Given the description of an element on the screen output the (x, y) to click on. 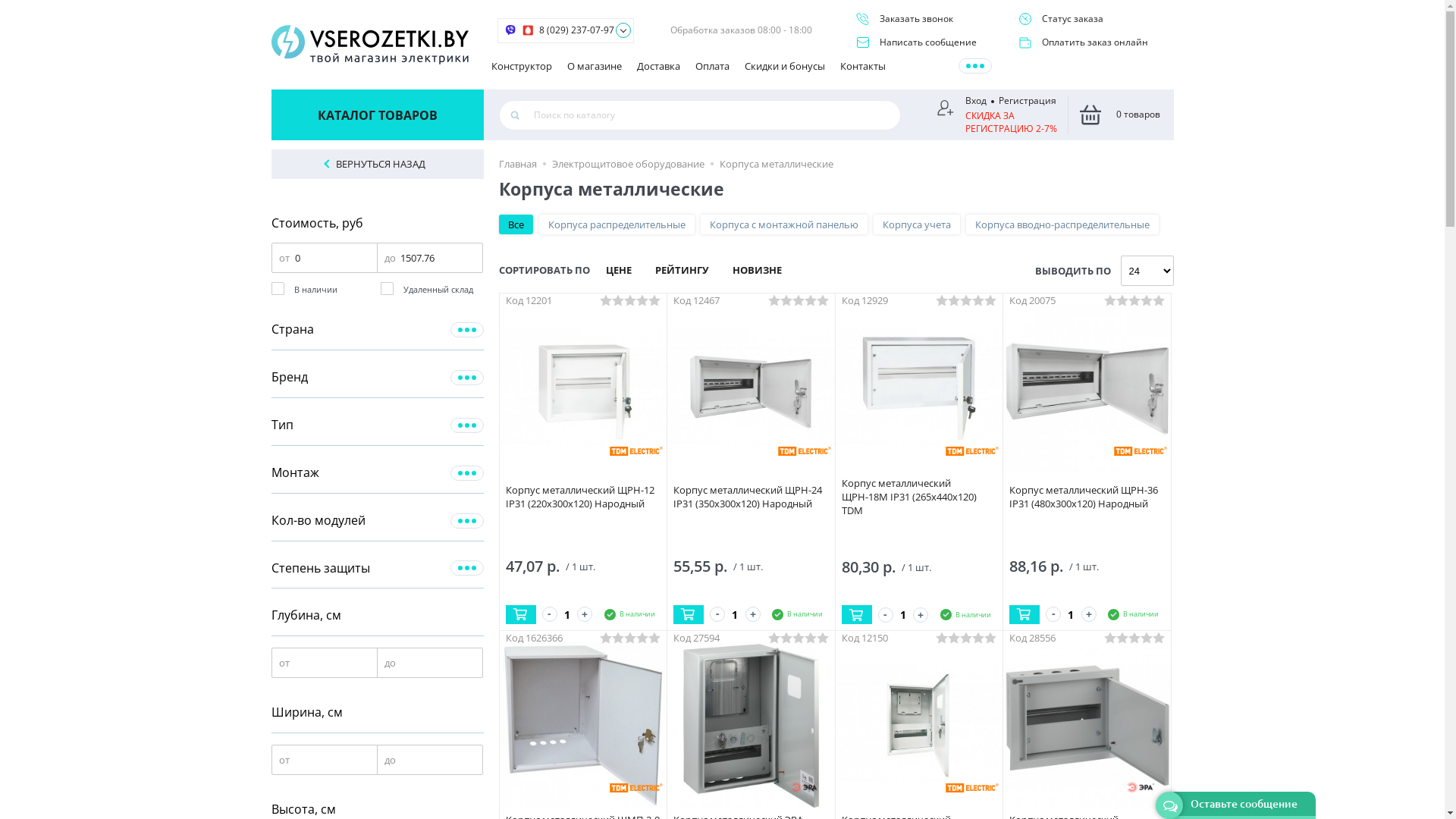
+ Element type: text (584, 613)
- Element type: text (716, 613)
+ Element type: text (1088, 613)
- Element type: text (548, 613)
8 (029) 237-07-97 Element type: text (575, 30)
+ Element type: text (751, 613)
+ Element type: text (920, 614)
- Element type: text (1052, 613)
- Element type: text (885, 614)
